Given the description of an element on the screen output the (x, y) to click on. 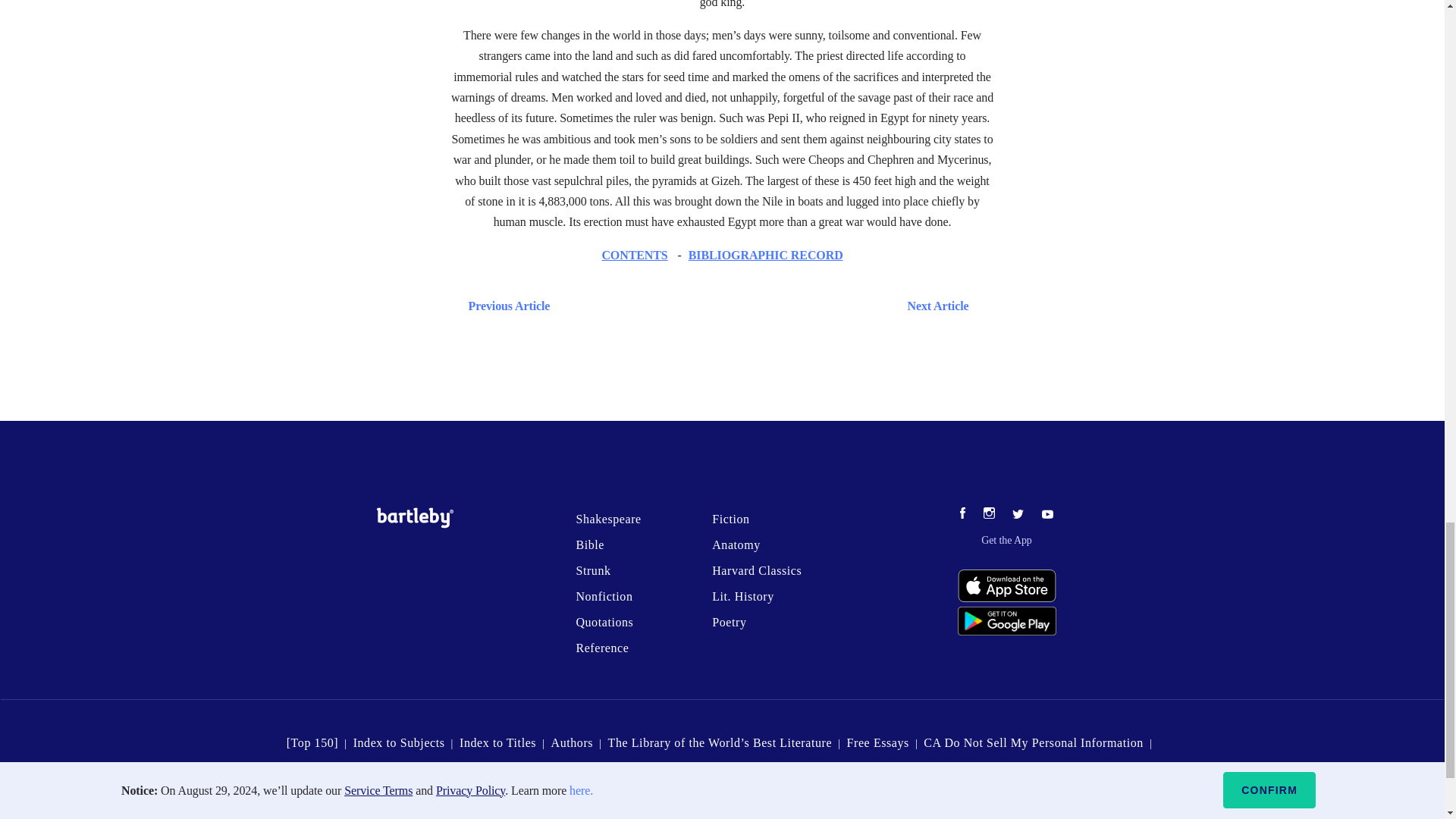
Anatomy (735, 544)
Shakespeare (607, 518)
Reference (601, 647)
Harvard Classics (756, 570)
BIBLIOGRAPHIC RECORD (765, 254)
Previous Article (505, 305)
Nonfiction (603, 595)
Lit. History (742, 595)
CONTENTS (633, 254)
Fiction (730, 518)
